Given the description of an element on the screen output the (x, y) to click on. 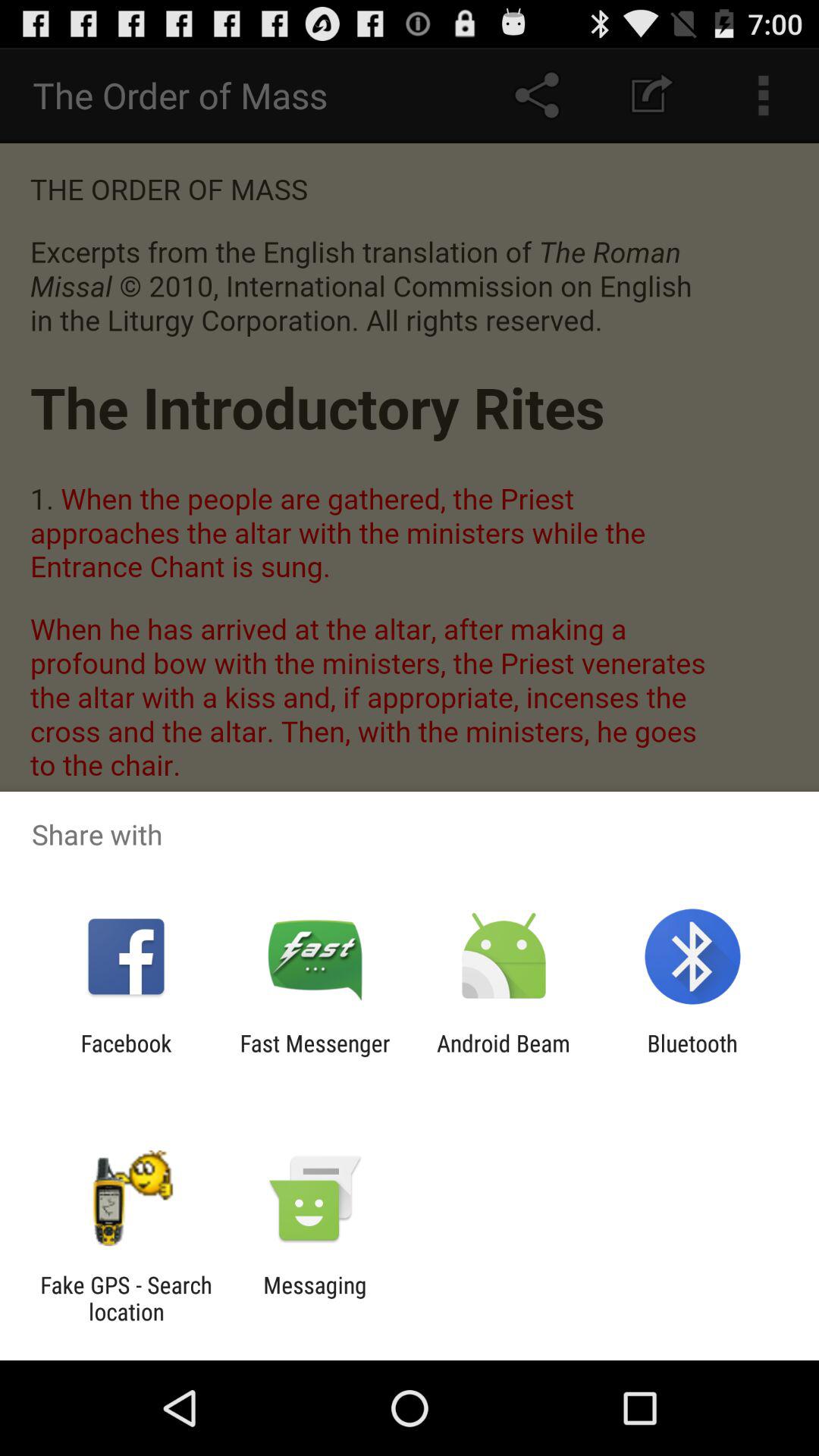
tap fake gps search item (125, 1298)
